Given the description of an element on the screen output the (x, y) to click on. 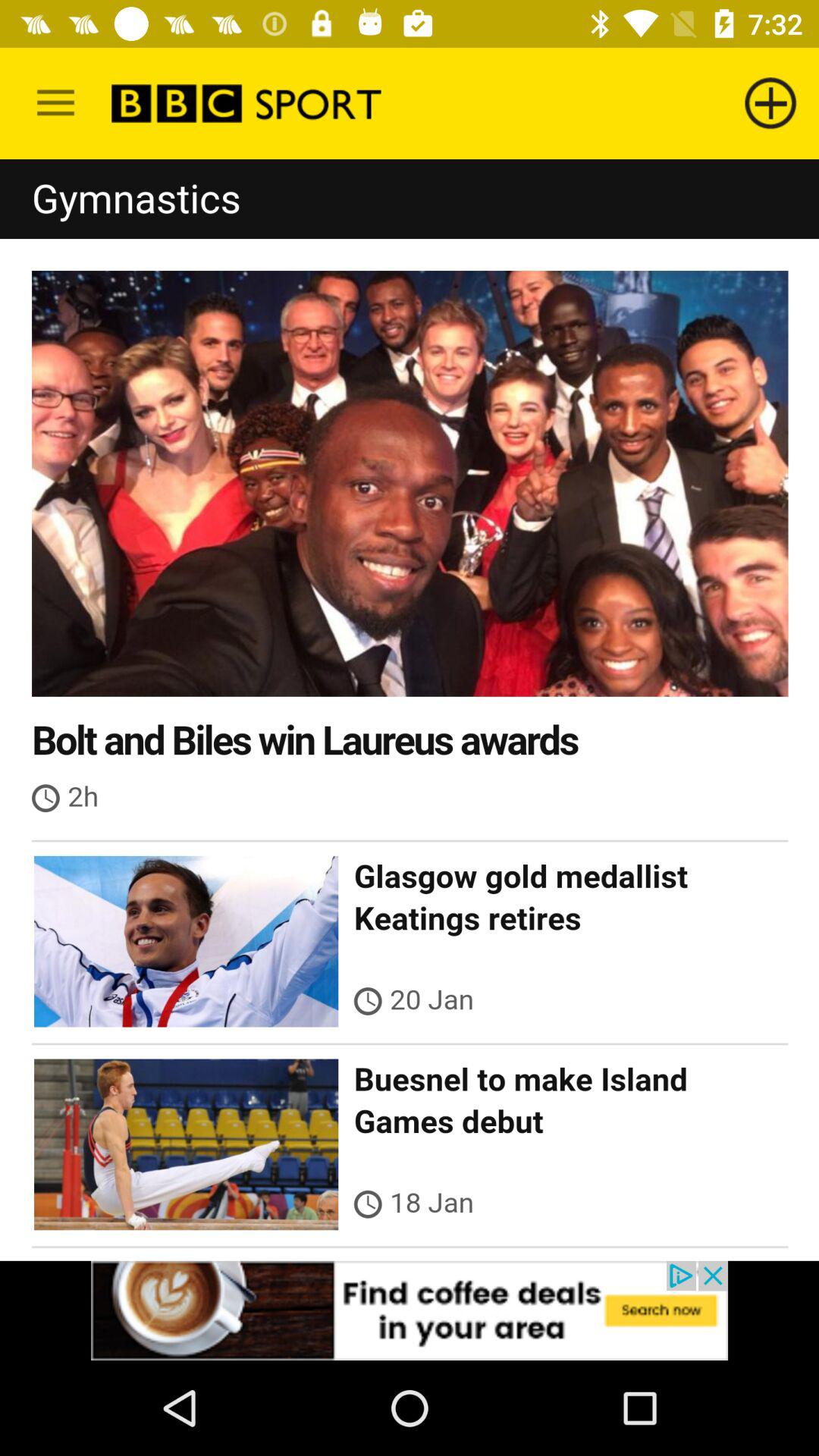
in app advertisement (409, 1310)
